Given the description of an element on the screen output the (x, y) to click on. 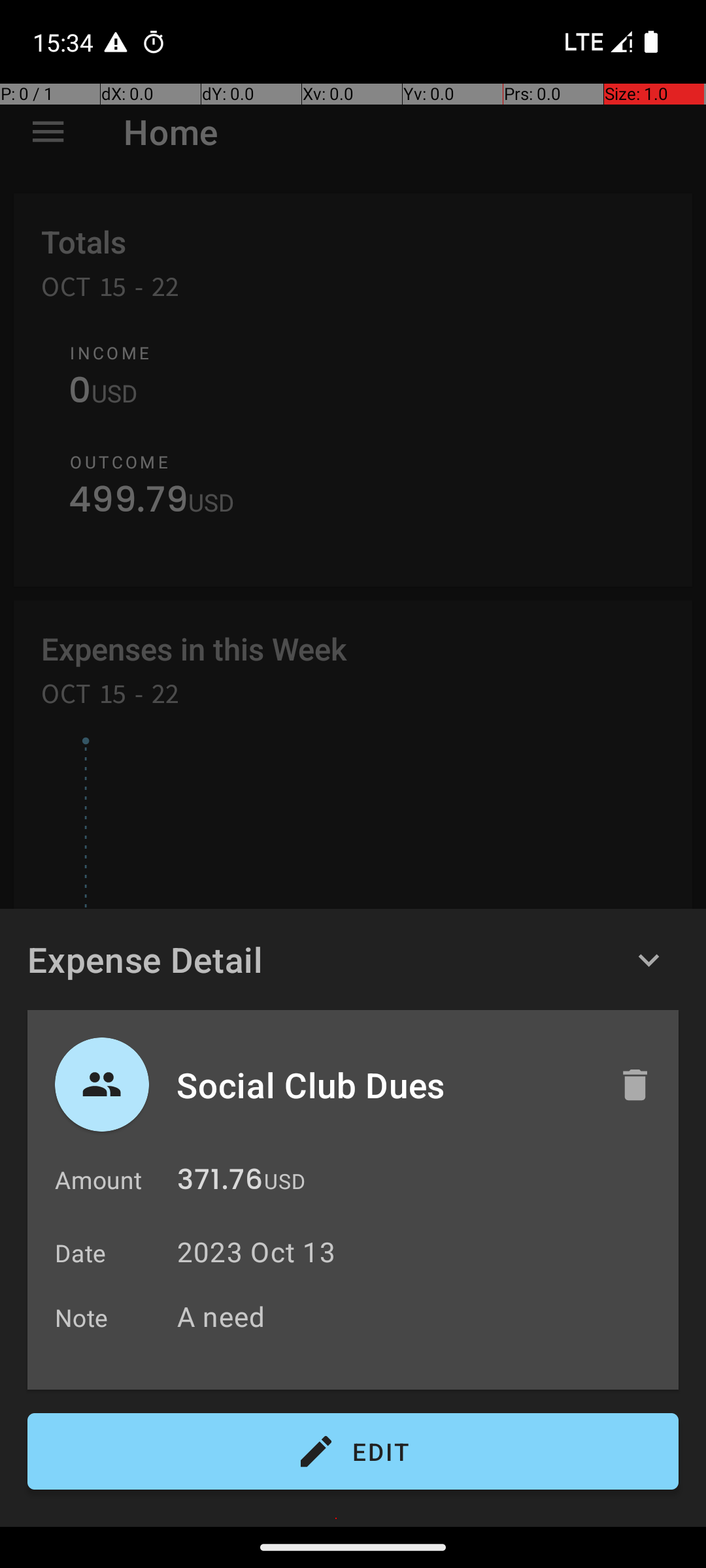
Social Club Dues Element type: android.widget.TextView (383, 1084)
371.76 Element type: android.widget.TextView (219, 1182)
A need Element type: android.widget.TextView (420, 1315)
